Given the description of an element on the screen output the (x, y) to click on. 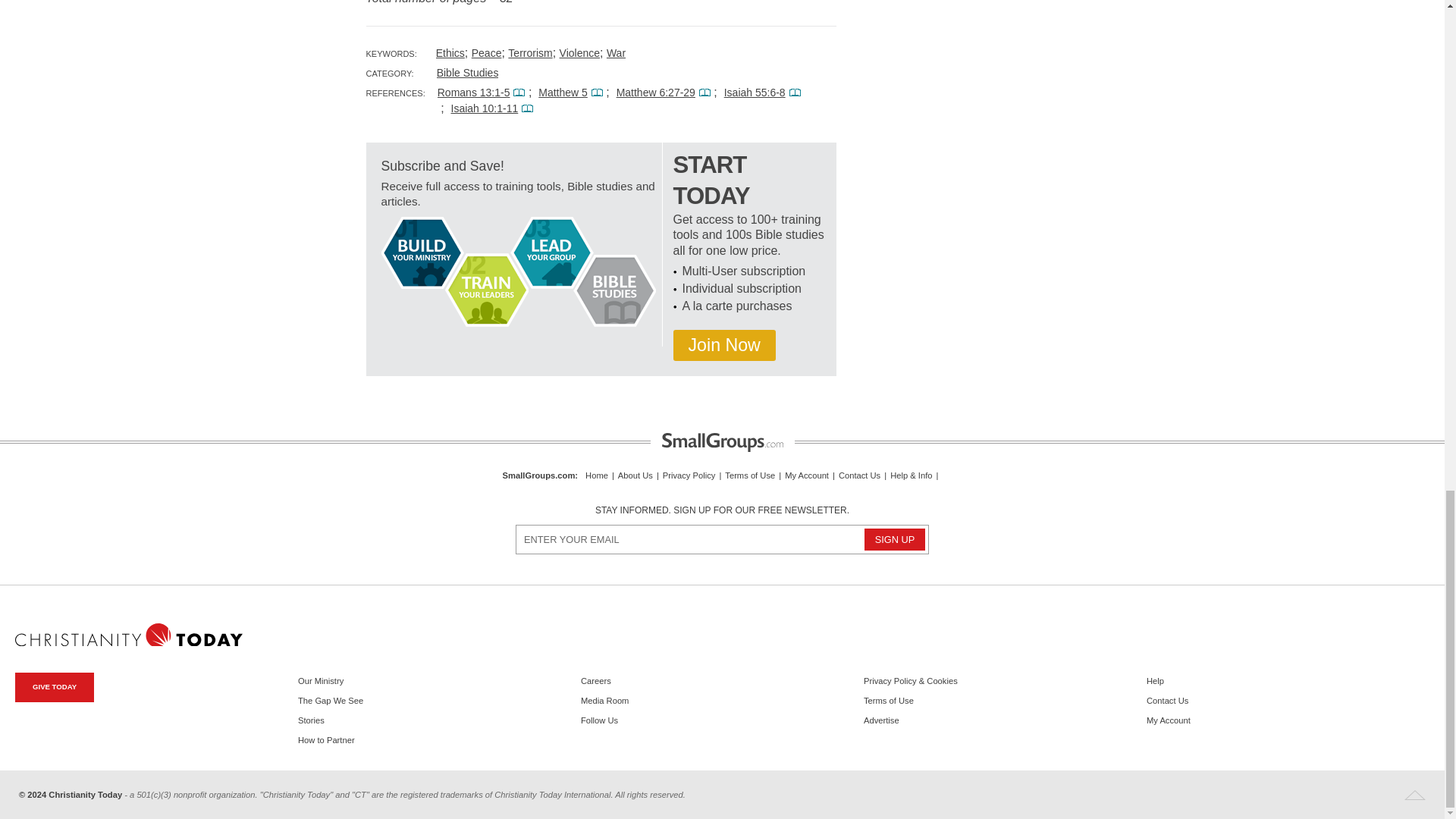
Look up reference (518, 92)
Look up reference (596, 92)
Sign Up (894, 539)
Look up reference (704, 92)
